Given the description of an element on the screen output the (x, y) to click on. 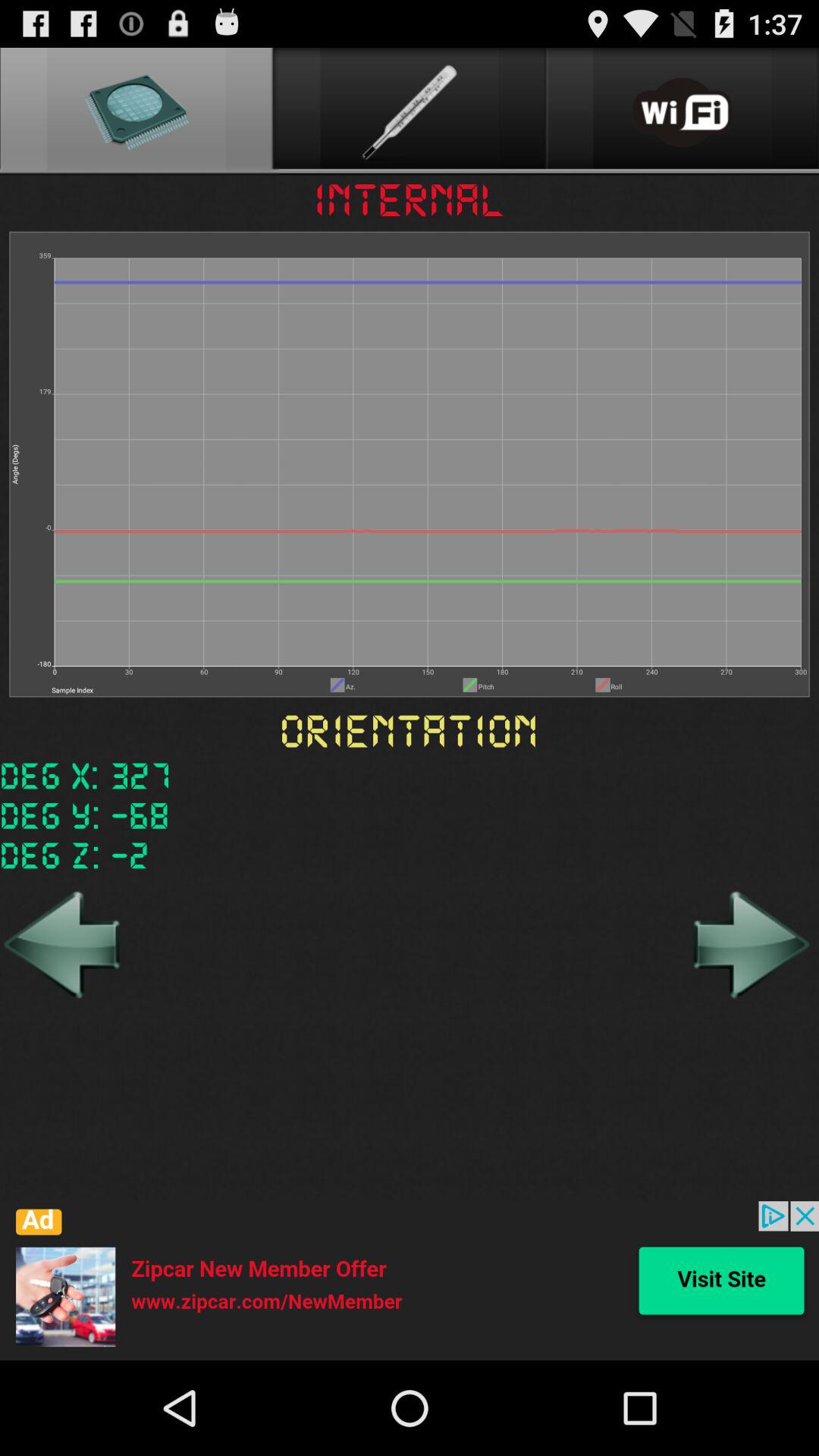
click to left arrow option (63, 944)
